Given the description of an element on the screen output the (x, y) to click on. 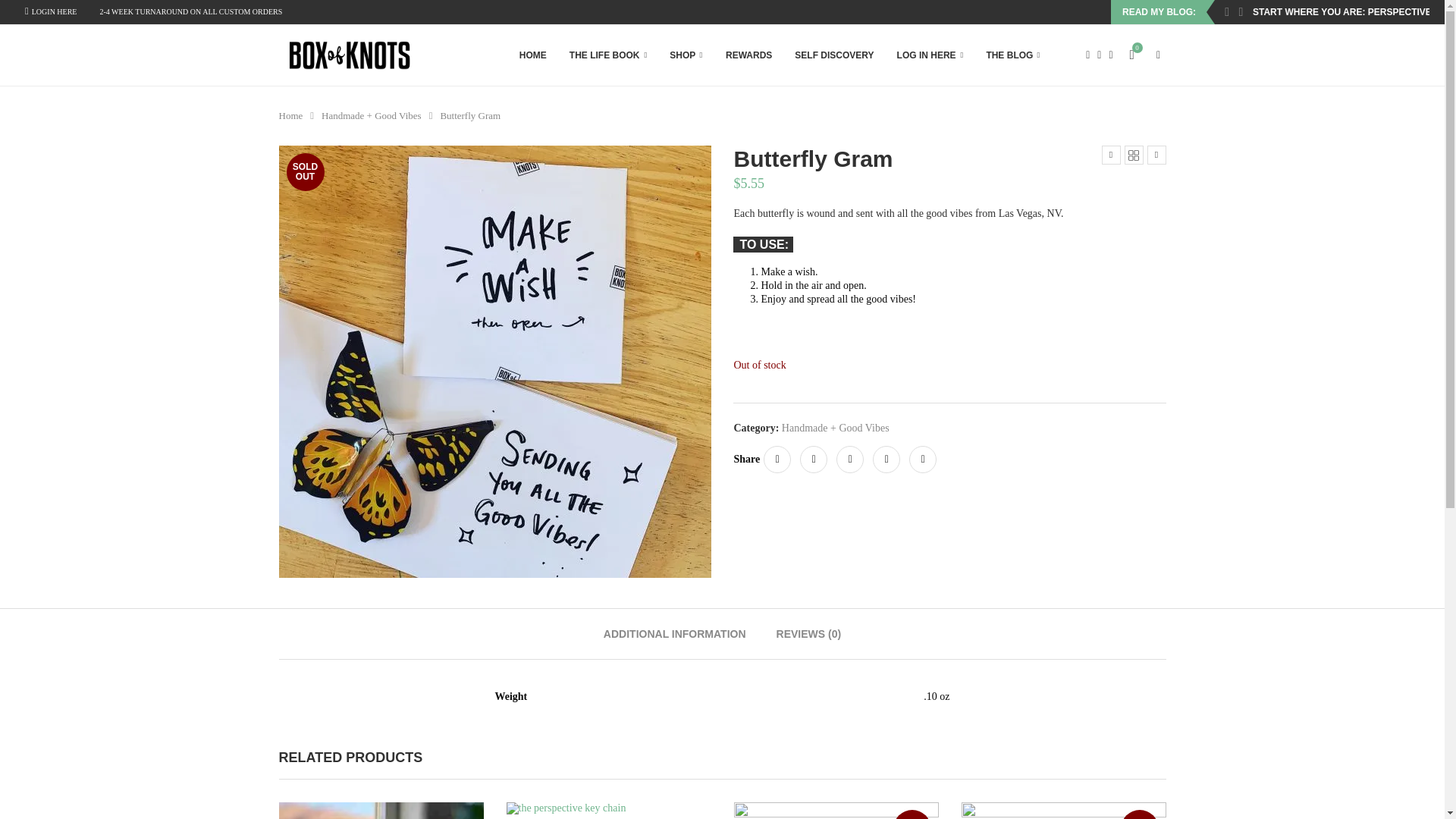
THE BLOG (1013, 55)
LOGIN HERE (50, 12)
LOG IN HERE (929, 55)
THE LIFE BOOK (607, 55)
SELF DISCOVERY (833, 55)
